Given the description of an element on the screen output the (x, y) to click on. 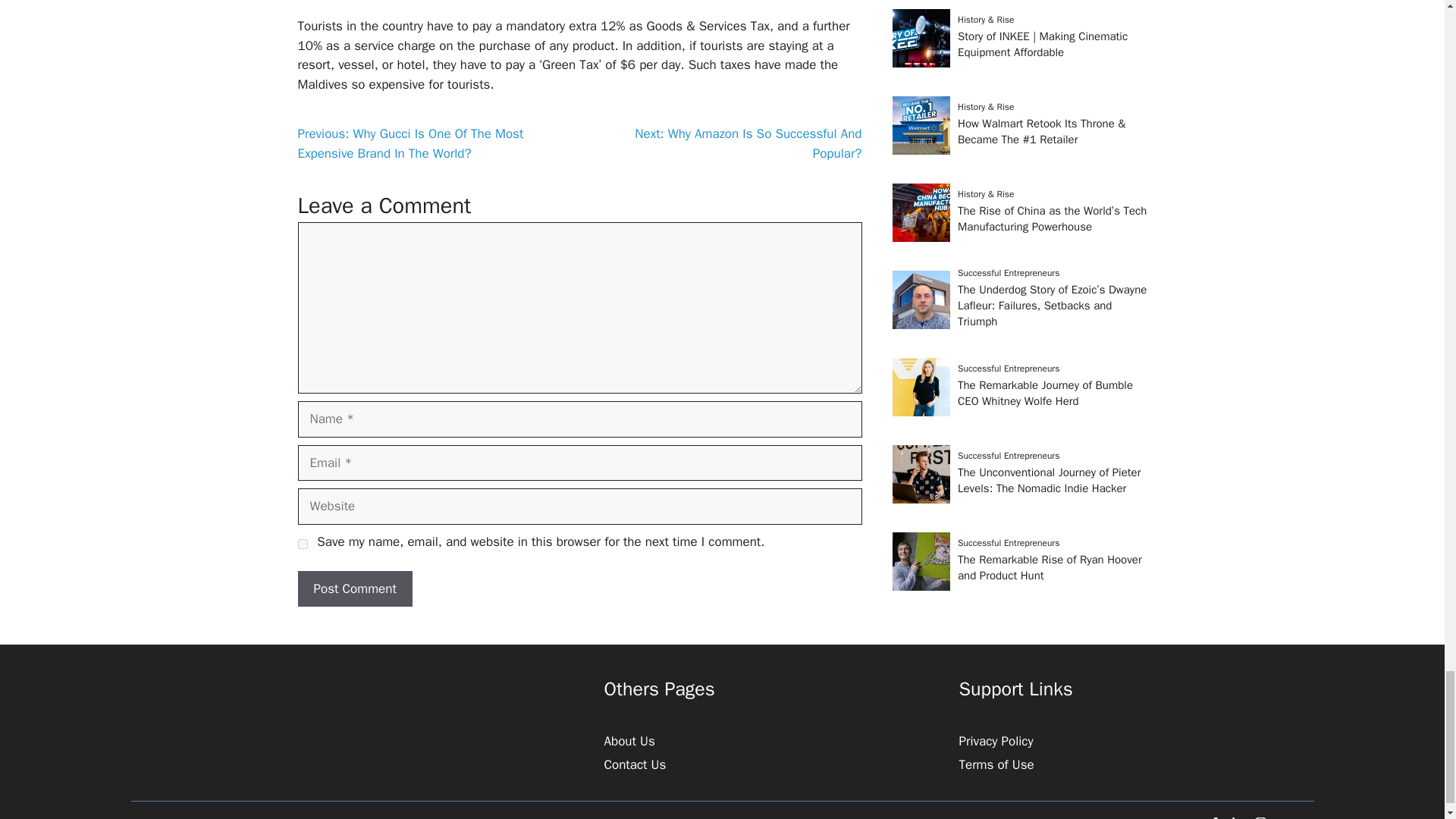
Post Comment (354, 588)
Post Comment (354, 588)
yes (302, 543)
Next: Why Amazon Is So Successful And Popular? (747, 143)
